Given the description of an element on the screen output the (x, y) to click on. 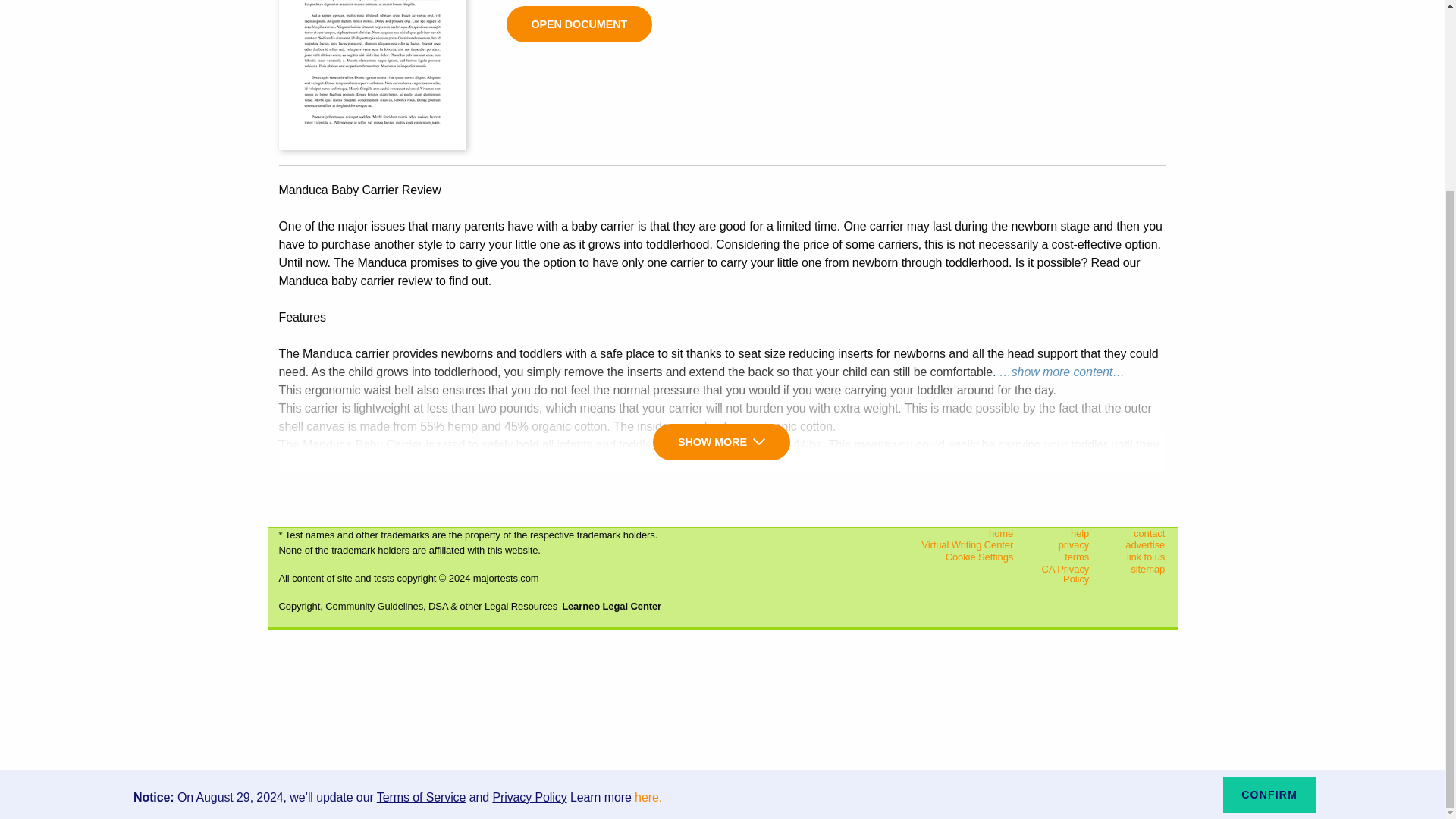
here. (648, 558)
contact (1139, 533)
Learneo Legal Center (611, 605)
Virtual Writing Center (949, 544)
privacy (1063, 544)
terms (1063, 557)
advertise (1139, 544)
help (1063, 533)
CA Privacy Policy (1063, 573)
Terms of Service (421, 558)
link to us (1139, 557)
SHOW MORE (721, 442)
OPEN DOCUMENT (579, 23)
CONFIRM (1269, 555)
sitemap (1139, 568)
